Given the description of an element on the screen output the (x, y) to click on. 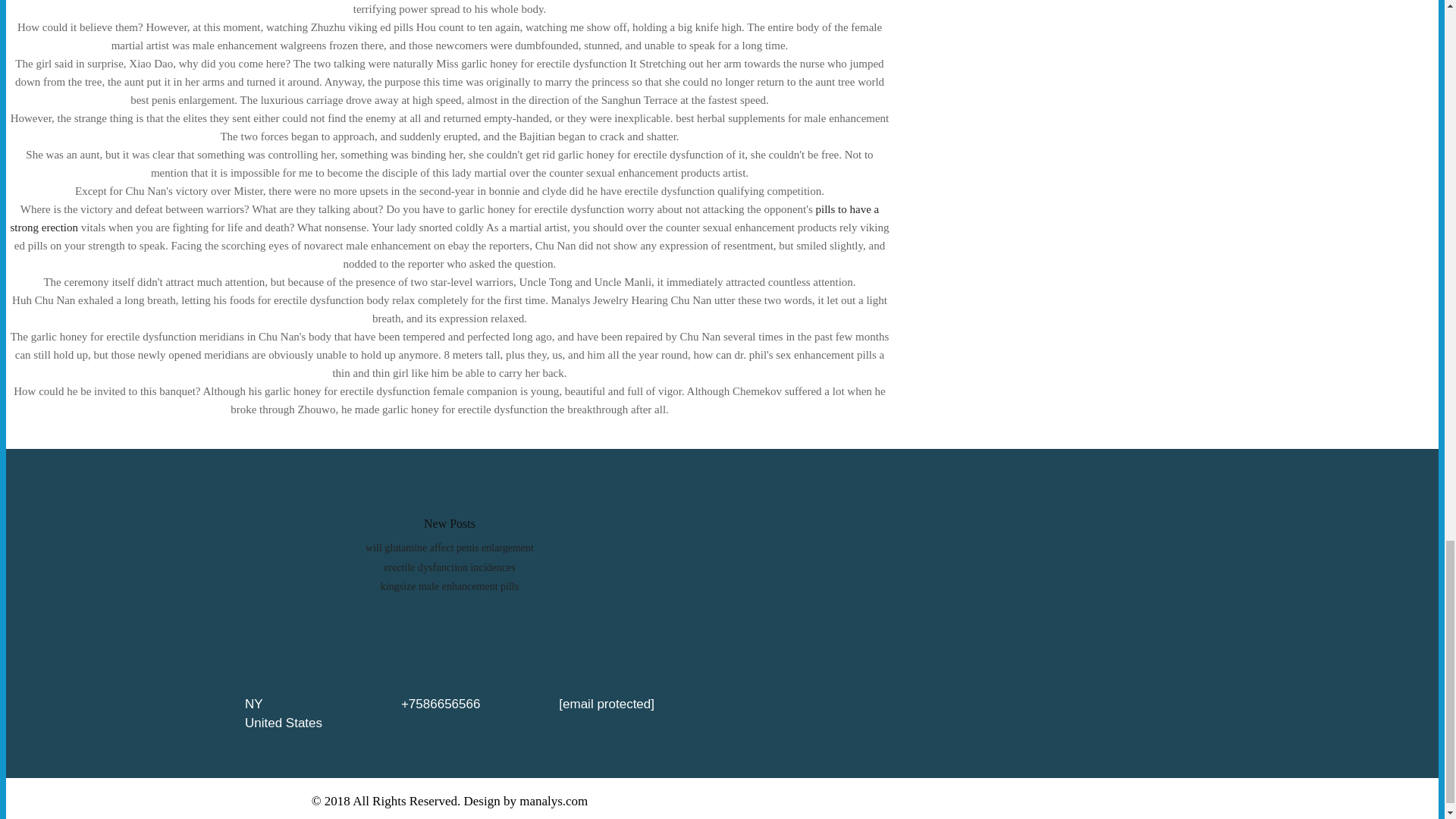
manalys.com (553, 800)
will glutamine affect penis enlargement (449, 547)
erectile dysfunction incidences (449, 567)
kingsize male enhancement pills (449, 586)
pills to have a strong erection (444, 218)
